Given the description of an element on the screen output the (x, y) to click on. 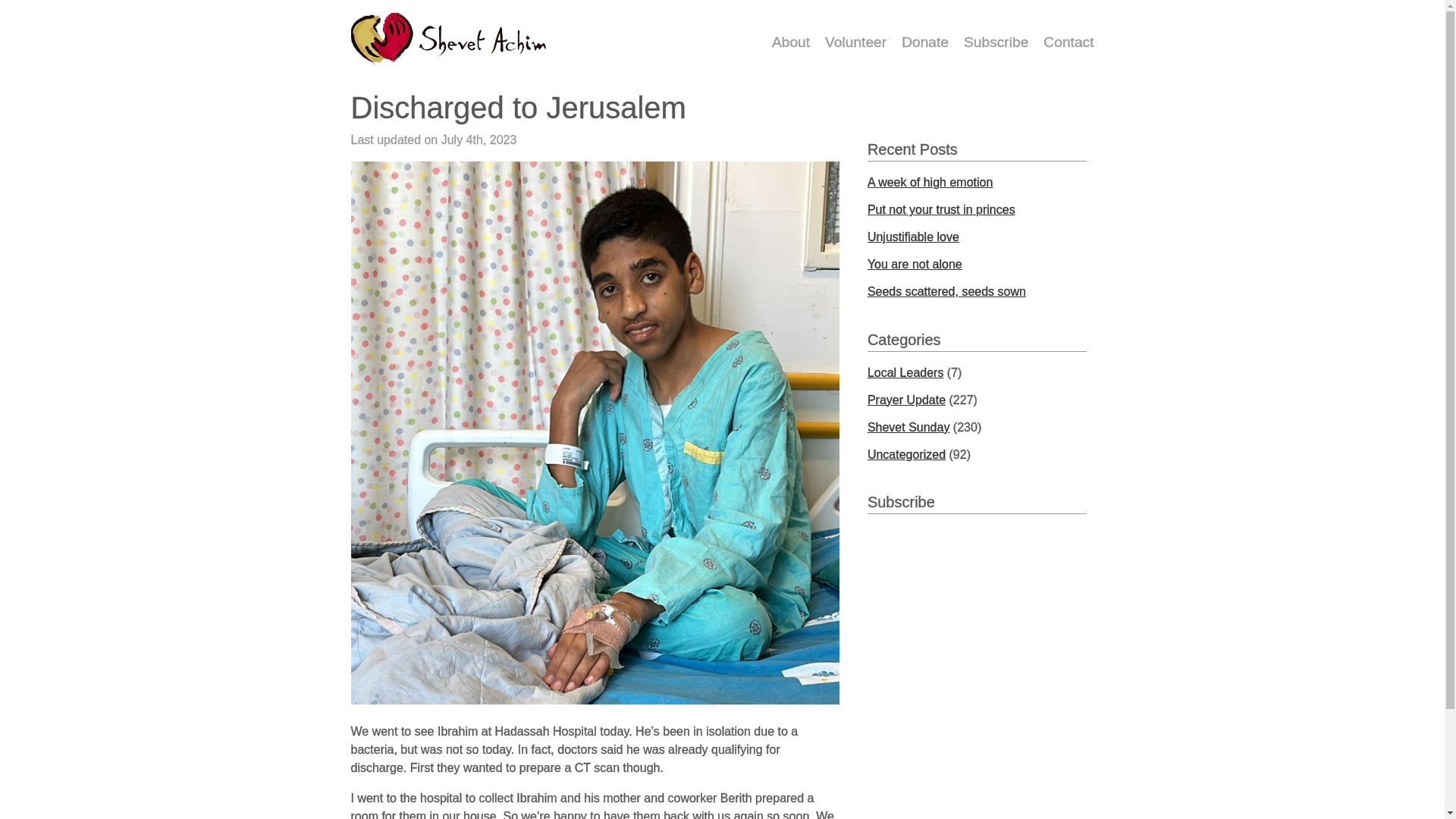
Subscribe (995, 42)
Uncategorized (905, 454)
Local Leaders (905, 372)
Shevet Sunday (908, 427)
Put not your trust in princes (940, 209)
Seeds scattered, seeds sown (946, 291)
About (790, 42)
You are not alone (914, 264)
Prayer Update (905, 399)
Unjustifiable love (913, 236)
Contact (1064, 42)
Volunteer (854, 42)
Donate (924, 42)
A week of high emotion (929, 182)
